Given the description of an element on the screen output the (x, y) to click on. 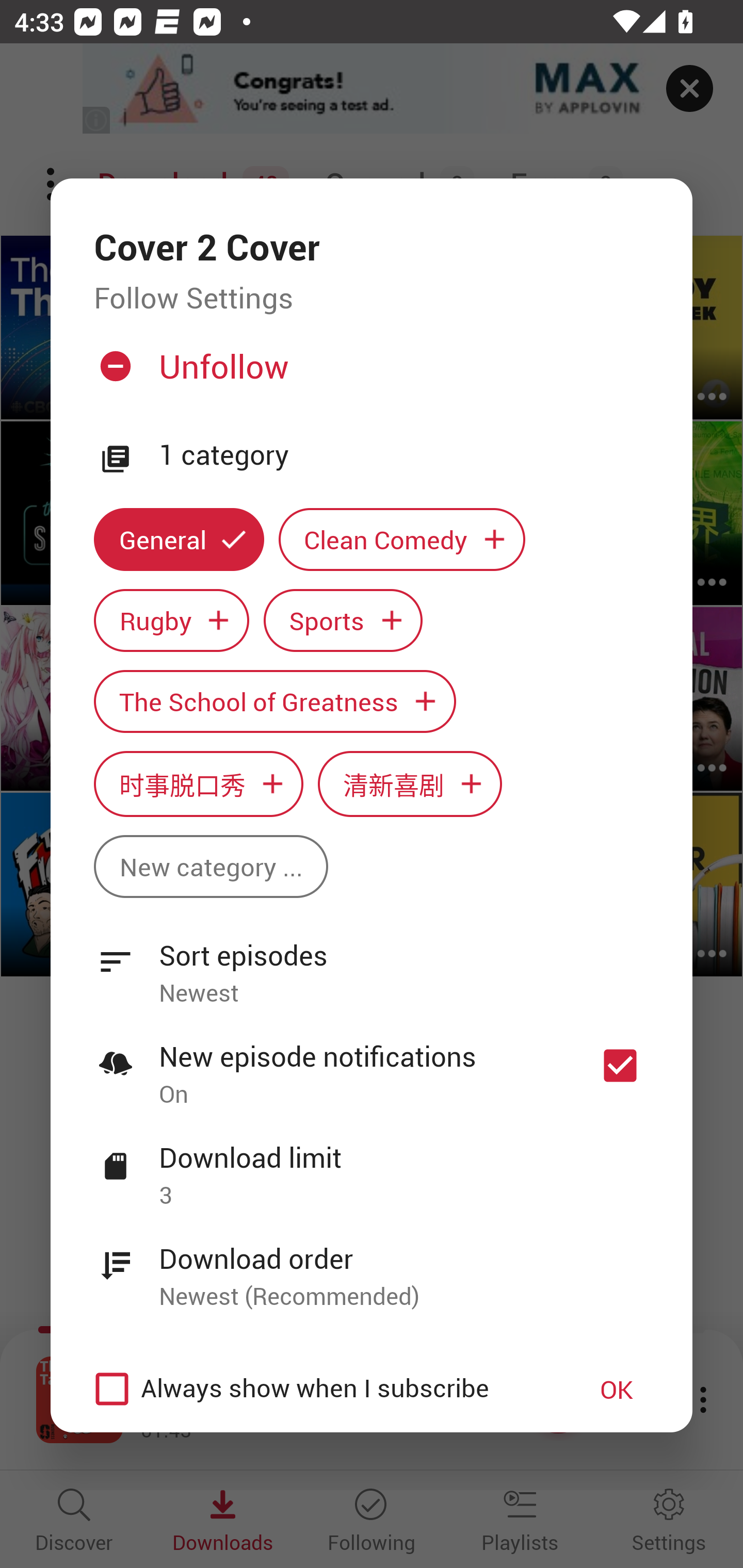
Unfollow (369, 374)
1 category (404, 455)
General (178, 539)
Clean Comedy (401, 539)
Rugby (170, 620)
Sports (342, 620)
The School of Greatness (274, 700)
时事脱口秀 (198, 783)
清新喜剧 (410, 783)
New category ... (210, 866)
Sort episodes Newest (371, 962)
New episode notifications (620, 1065)
Download limit 3 (371, 1164)
Download order Newest (Recommended) (371, 1266)
OK (616, 1388)
Always show when I subscribe (320, 1388)
